Given the description of an element on the screen output the (x, y) to click on. 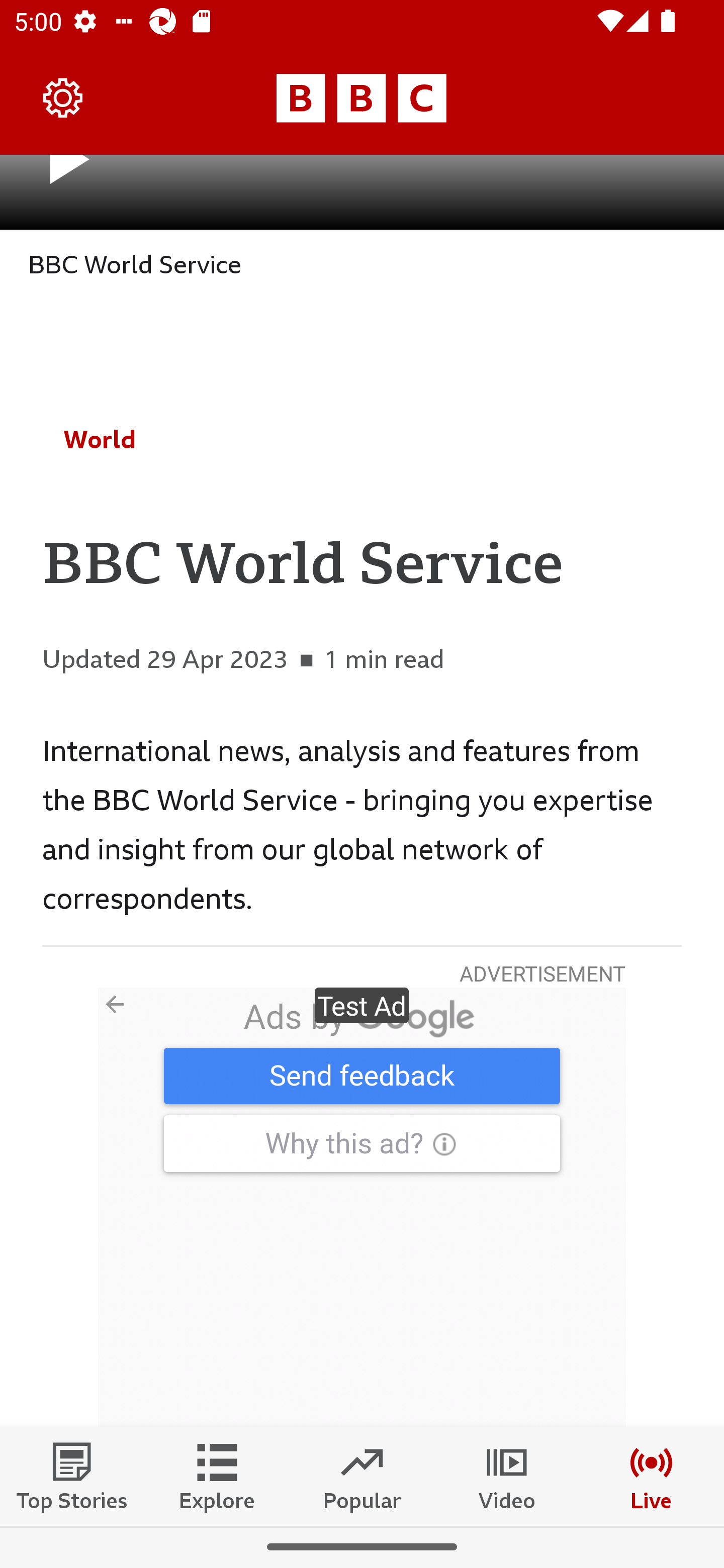
Settings (63, 97)
World (99, 438)
Fidelity javascript:window.open(window (361, 1206)
Top Stories (72, 1475)
Explore (216, 1475)
Popular (361, 1475)
Video (506, 1475)
